Given the description of an element on the screen output the (x, y) to click on. 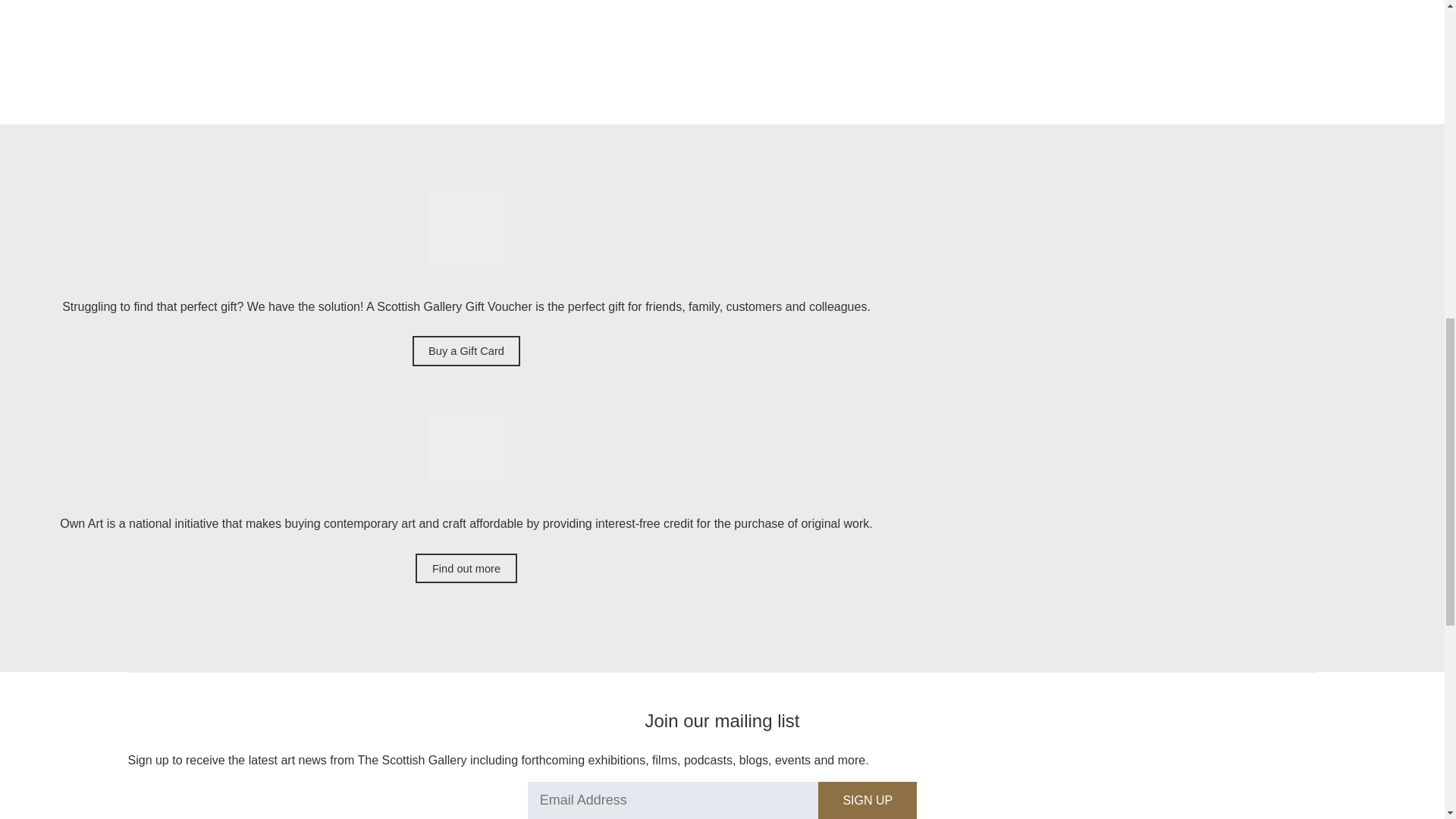
Find out more (465, 568)
Buy a Gift Card (466, 350)
SIGN UP (867, 800)
